Given the description of an element on the screen output the (x, y) to click on. 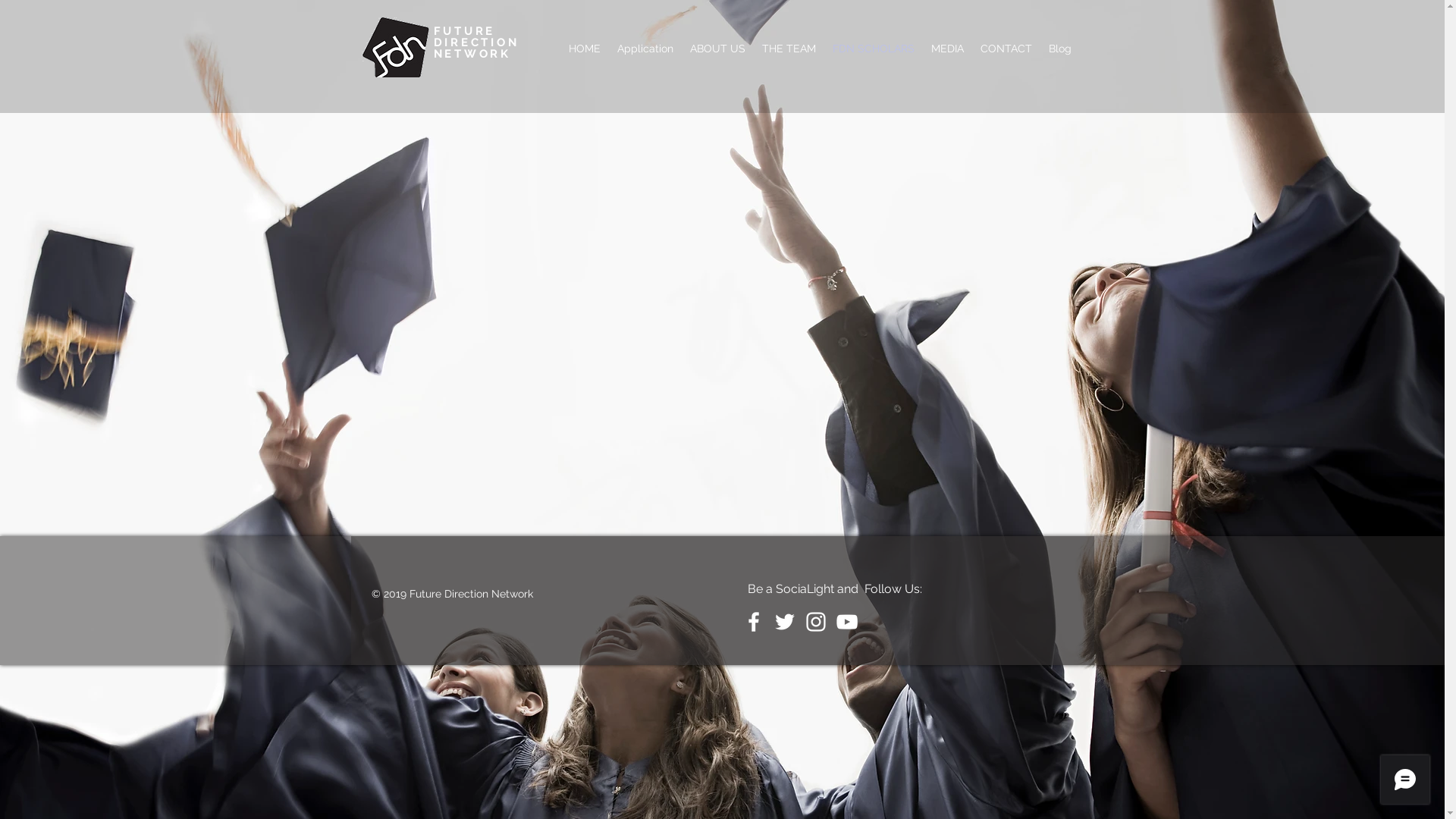
HOME Element type: text (583, 48)
Application Element type: text (644, 48)
CONTACT Element type: text (1006, 48)
Blog Element type: text (1059, 48)
FUTURE DIRECTION NETWORK Element type: text (476, 42)
MEDIA Element type: text (946, 48)
THE TEAM Element type: text (788, 48)
ABOUT US Element type: text (716, 48)
FDN SCHOLARS Element type: text (872, 48)
